Given the description of an element on the screen output the (x, y) to click on. 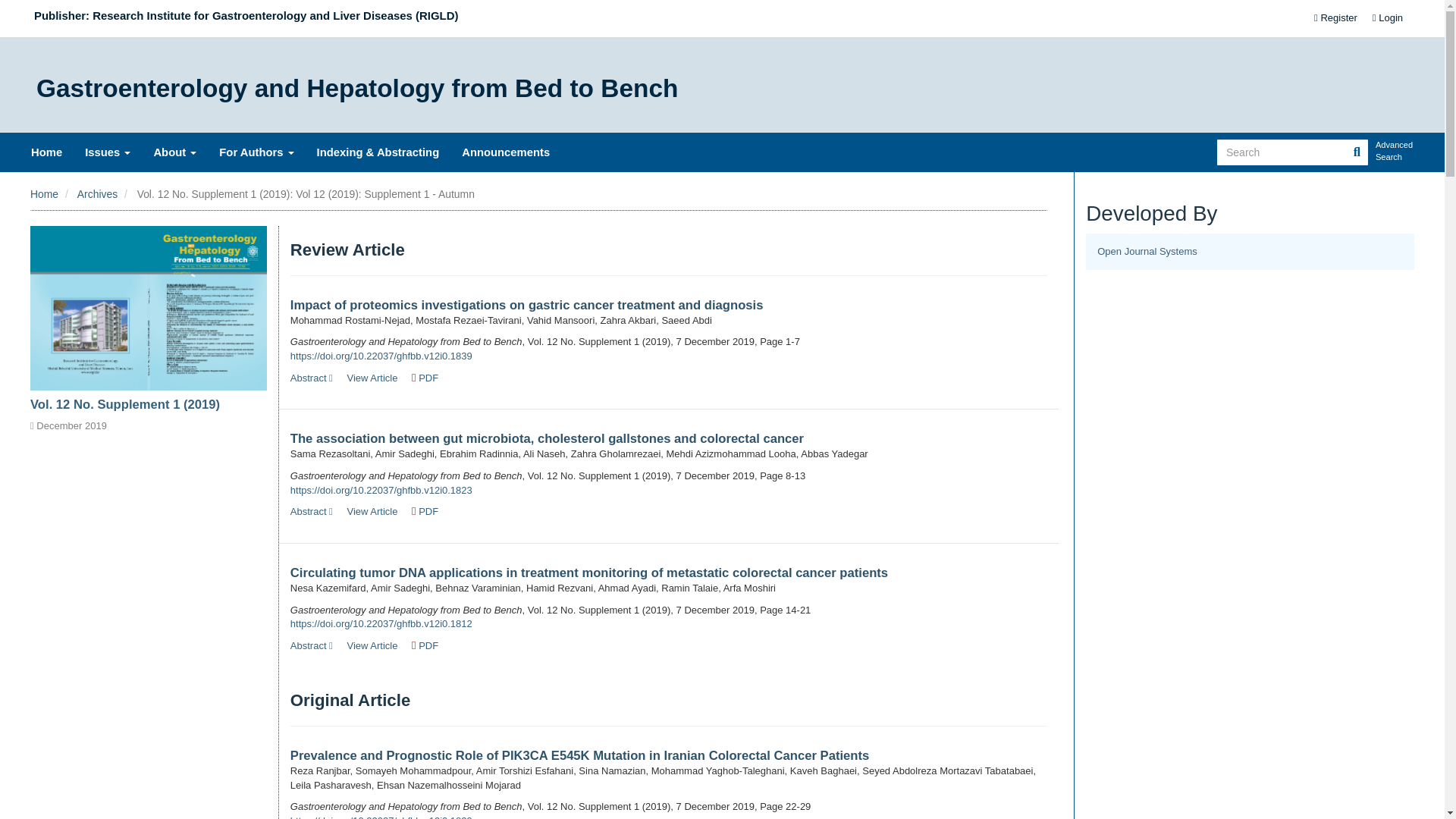
Advanced Search (1394, 151)
View Article (371, 378)
About (174, 152)
Abstract (311, 378)
View Article (371, 645)
Abstract (311, 645)
Login (1388, 17)
Archives (97, 193)
Home (44, 193)
For Authors (256, 152)
